Given the description of an element on the screen output the (x, y) to click on. 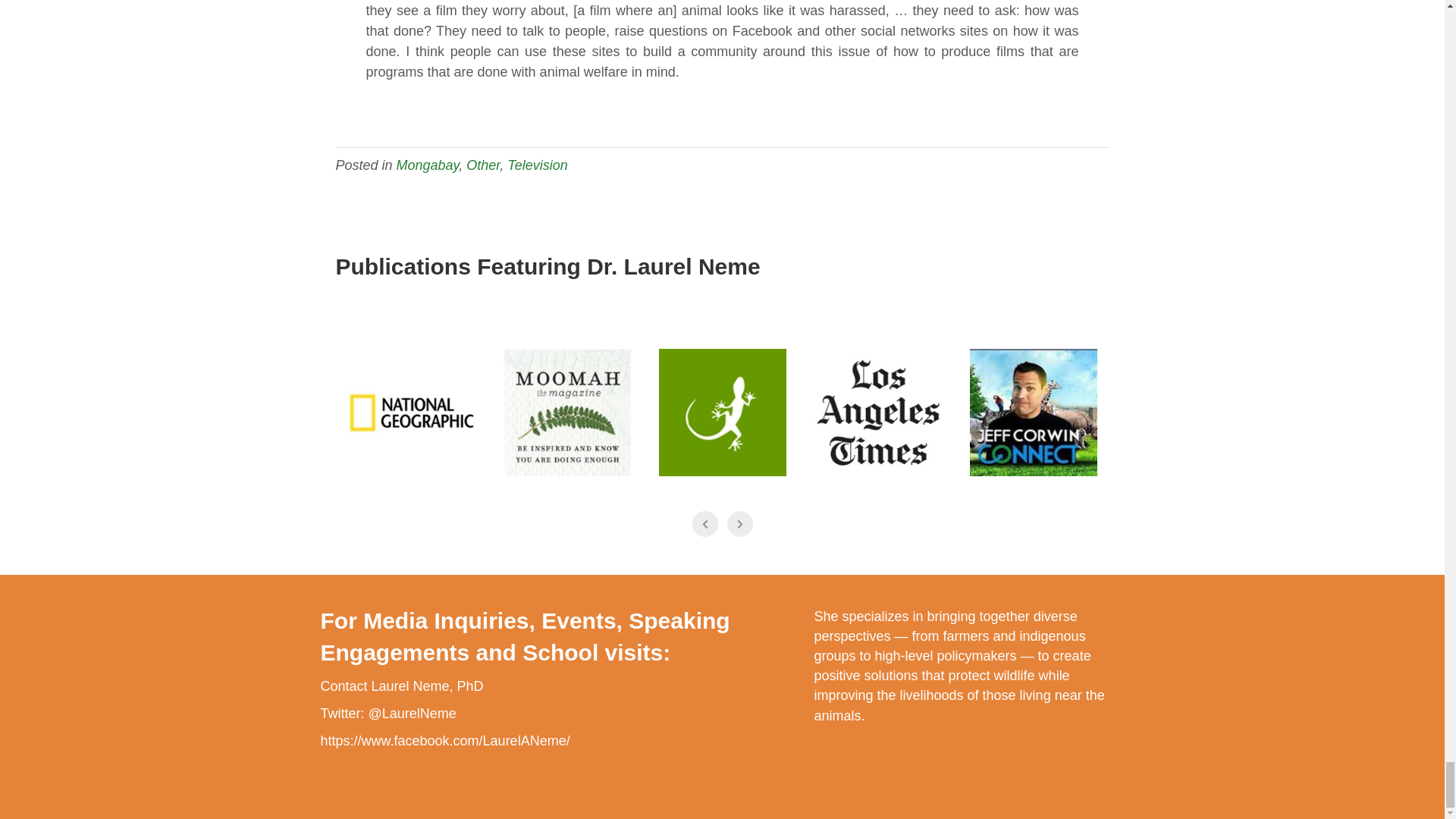
Los Angeles Times (877, 411)
Mongabay (722, 411)
Jeff Corwin Connection (1032, 411)
Moomah The Magazine (566, 411)
National Geographic (410, 411)
